Given the description of an element on the screen output the (x, y) to click on. 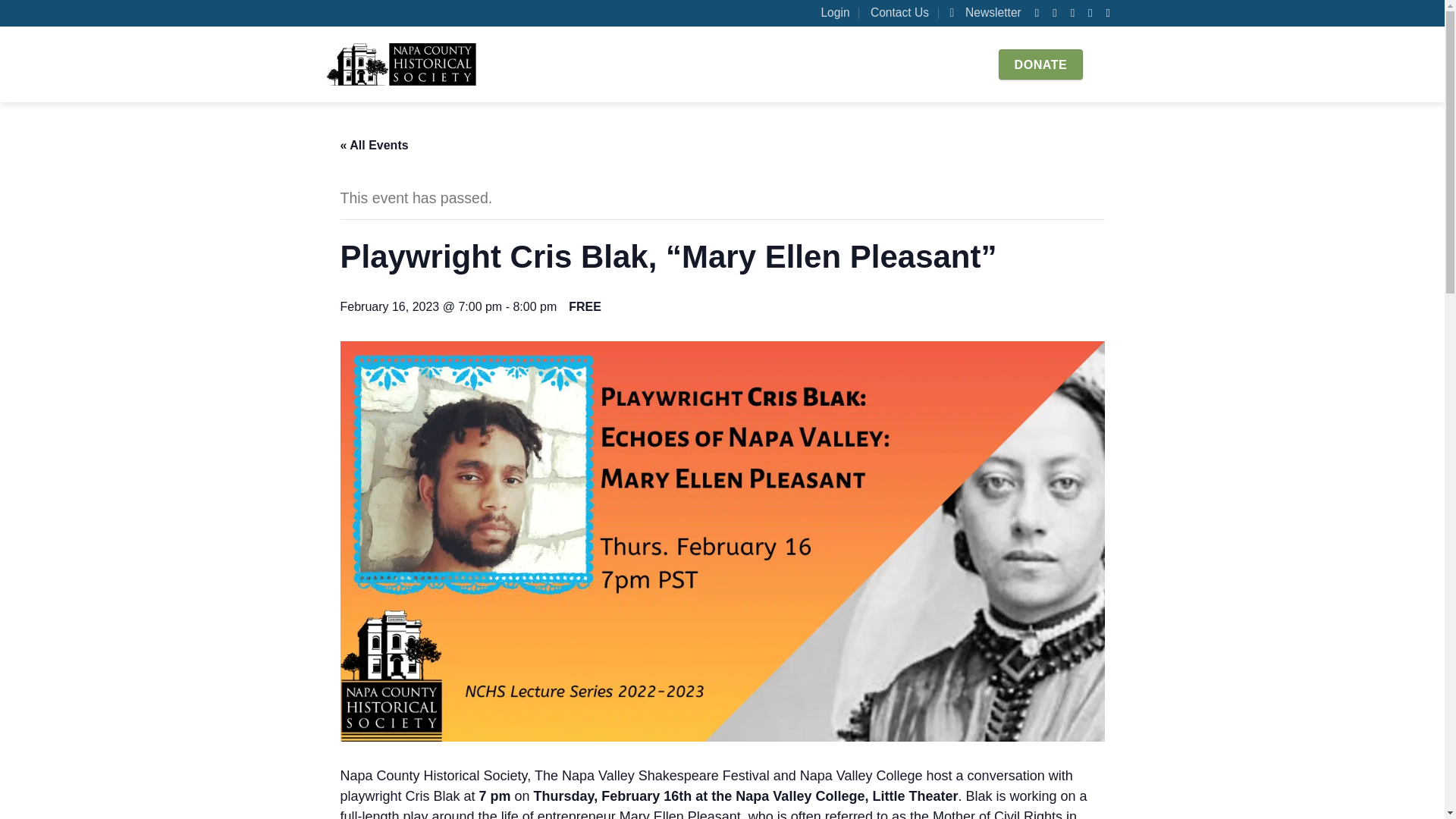
Join (930, 63)
Newsletter (984, 13)
Research (815, 63)
Login (834, 13)
Home (617, 63)
Napa County Historical Society - Keeping history alive (400, 64)
Send us an email (1075, 12)
Contact Us (899, 13)
Follow on Instagram (1058, 12)
